Given the description of an element on the screen output the (x, y) to click on. 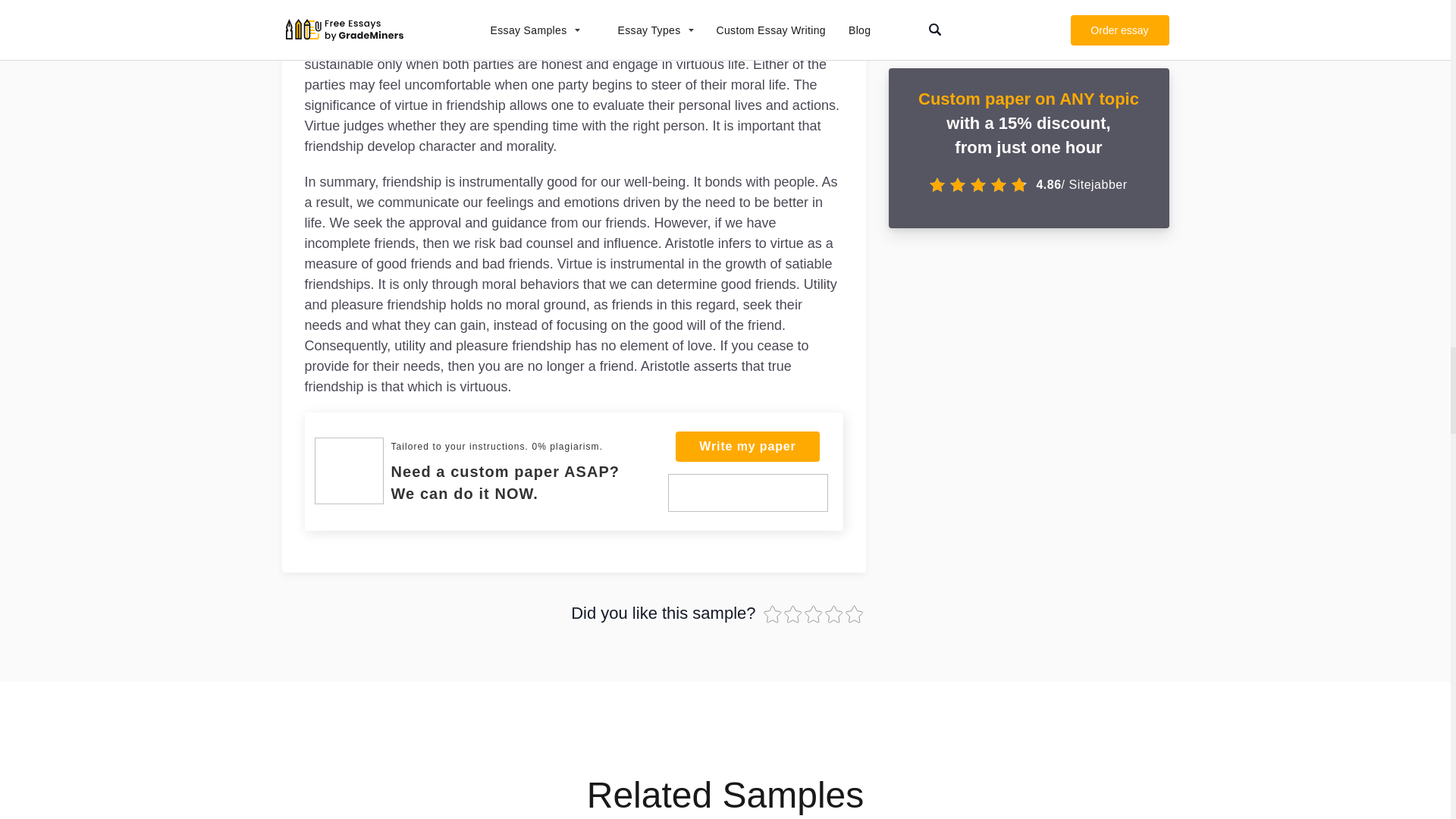
23 votes, average: 4,8 out of 5 (854, 614)
23 votes, average: 4,8 out of 5 (772, 614)
23 votes, average: 4,8 out of 5 (794, 614)
23 votes, average: 4,8 out of 5 (835, 614)
23 votes, average: 4,8 out of 5 (813, 614)
